Given the description of an element on the screen output the (x, y) to click on. 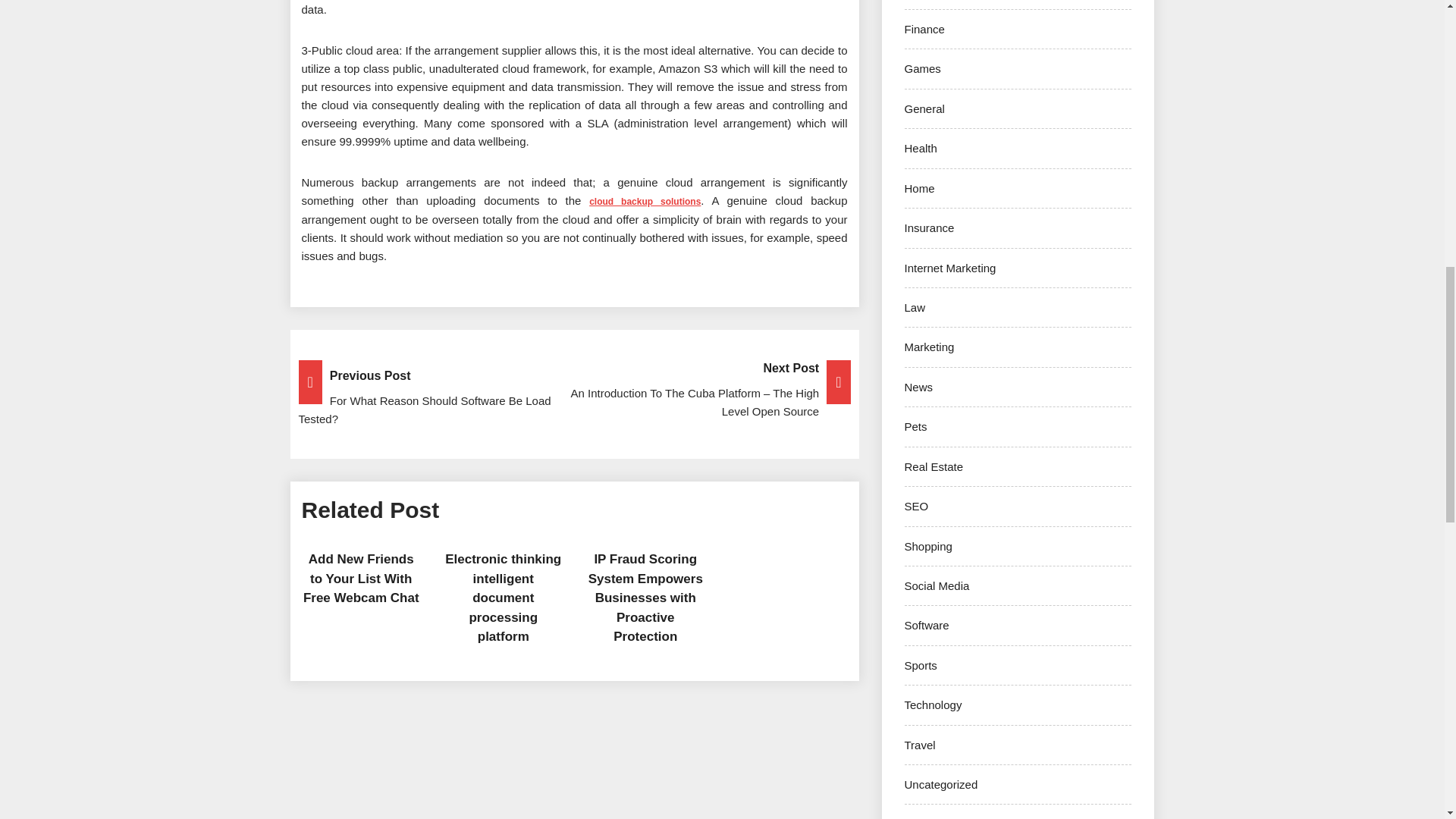
cloud backup solutions (644, 200)
Electronic thinking intelligent document processing platform (502, 597)
Finance (923, 29)
Home (919, 187)
General (923, 108)
Add New Friends to Your List With Free Webcam Chat (360, 578)
Games (922, 68)
Health (920, 147)
